Given the description of an element on the screen output the (x, y) to click on. 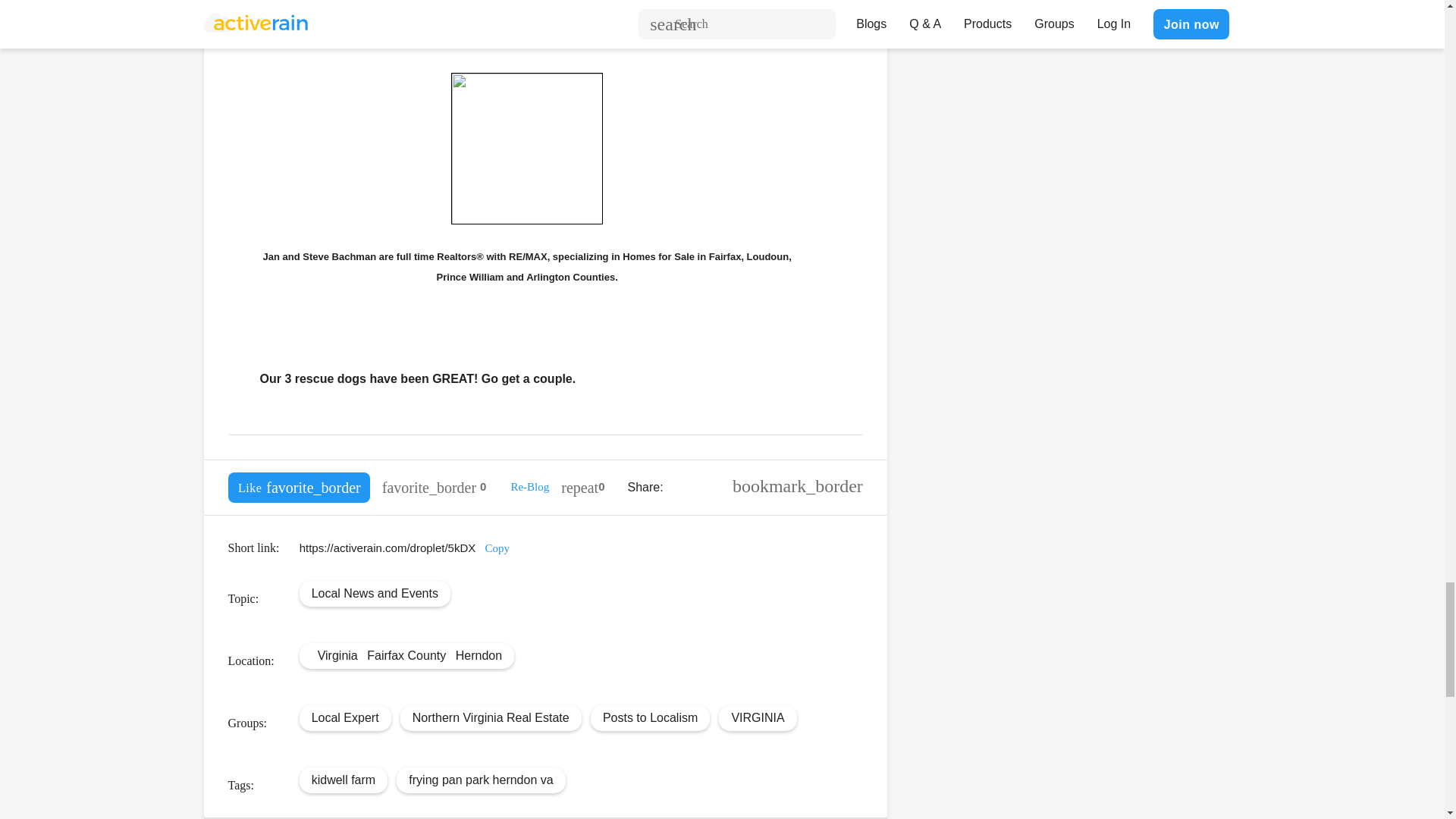
repeat 0 (582, 487)
Herndon (478, 655)
Local News and Events (374, 593)
Re-Blog (529, 486)
Fairfax County (405, 655)
Virginia (337, 655)
Copy (496, 548)
This entry hasn't been re-blogged (582, 487)
